Given the description of an element on the screen output the (x, y) to click on. 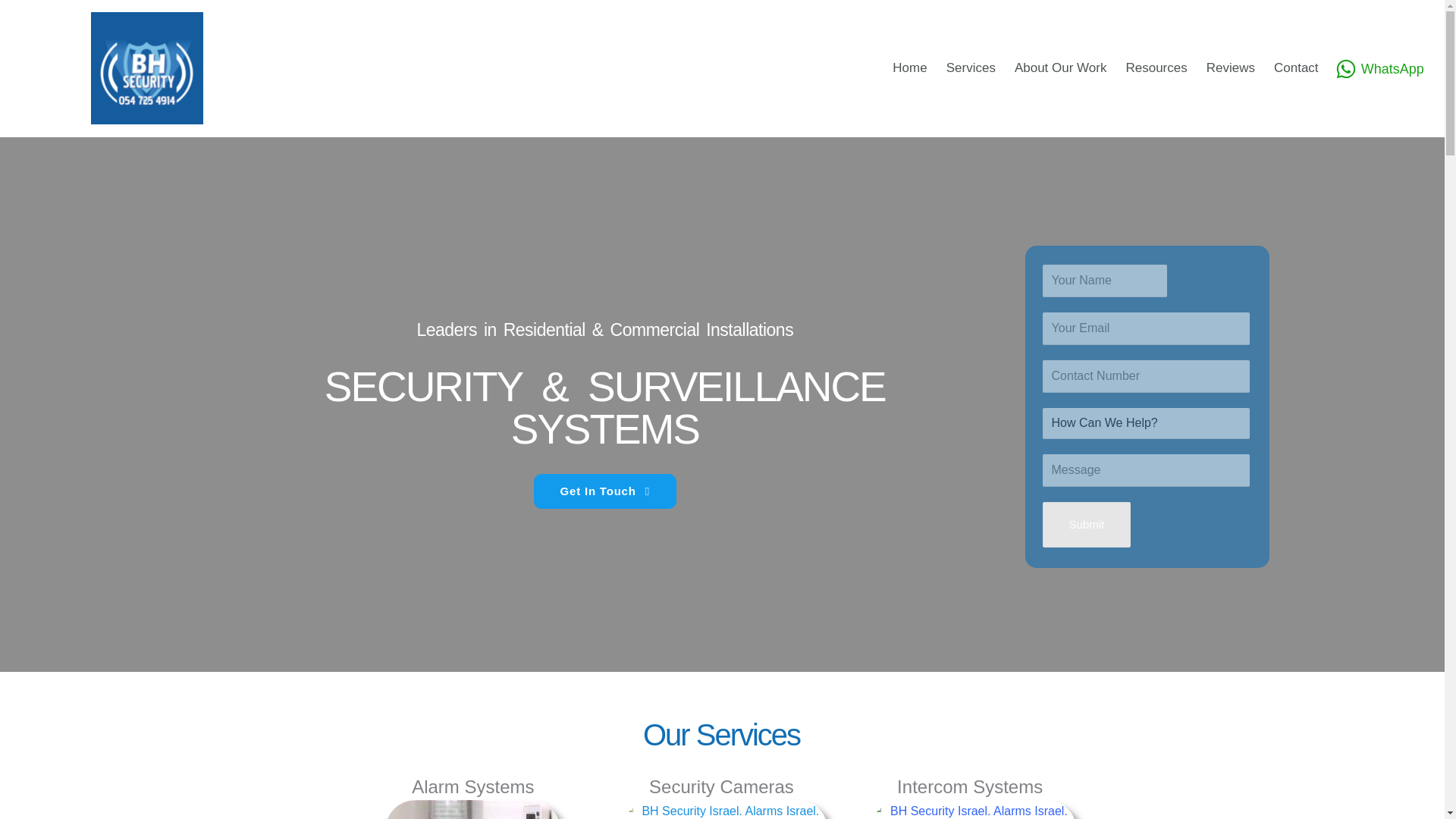
Resources (1165, 67)
About Our Work (1069, 67)
Home (918, 67)
Contact (1306, 67)
Get In Touch (605, 491)
Services (980, 67)
WhatsApp (1379, 68)
Submit (1086, 524)
Reviews (1240, 67)
